Given the description of an element on the screen output the (x, y) to click on. 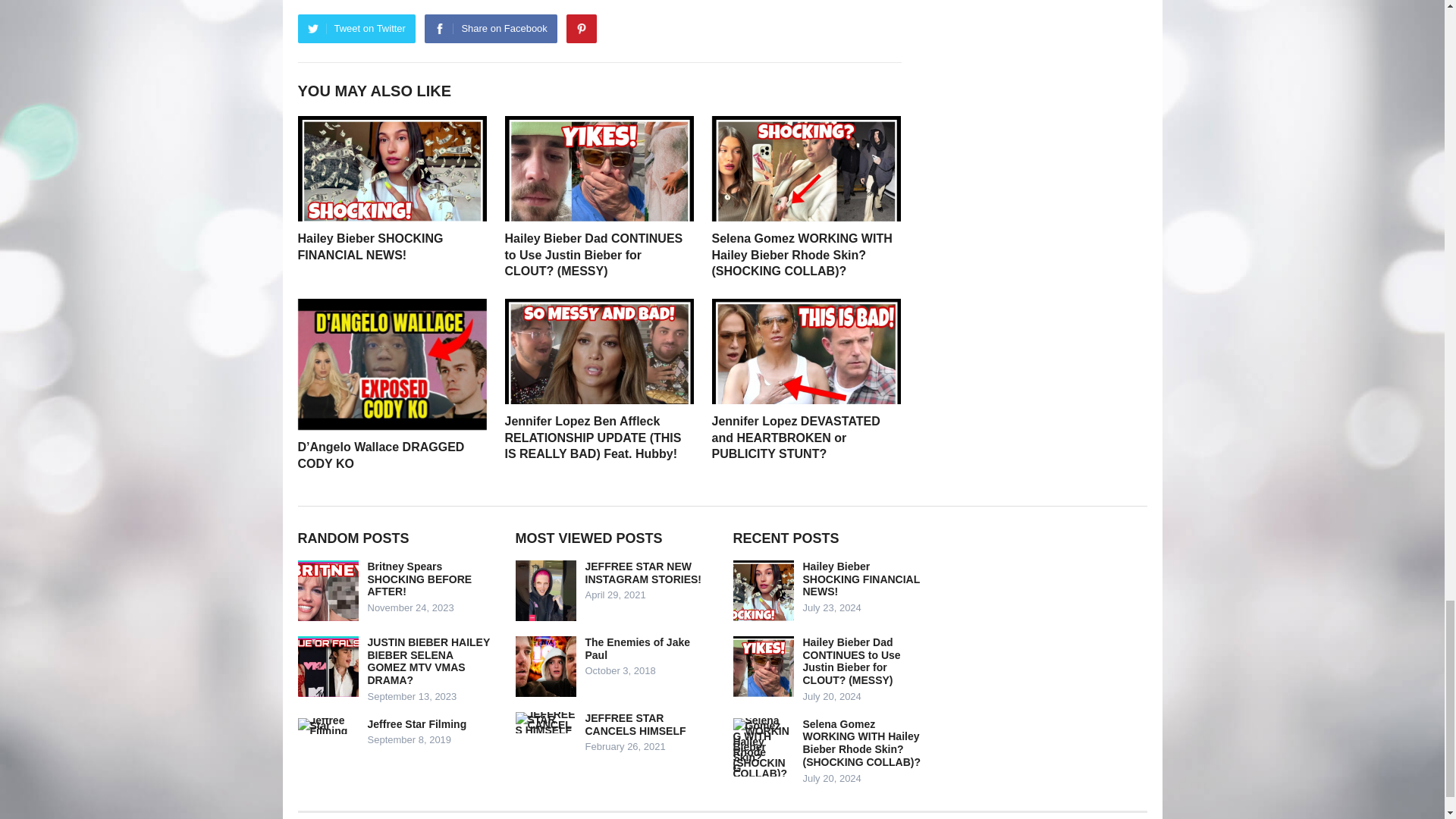
Hailey Bieber SHOCKING FINANCIAL NEWS! 2 (391, 168)
D'Angelo Wallace DRAGGED CODY KO 8 (391, 363)
